Given the description of an element on the screen output the (x, y) to click on. 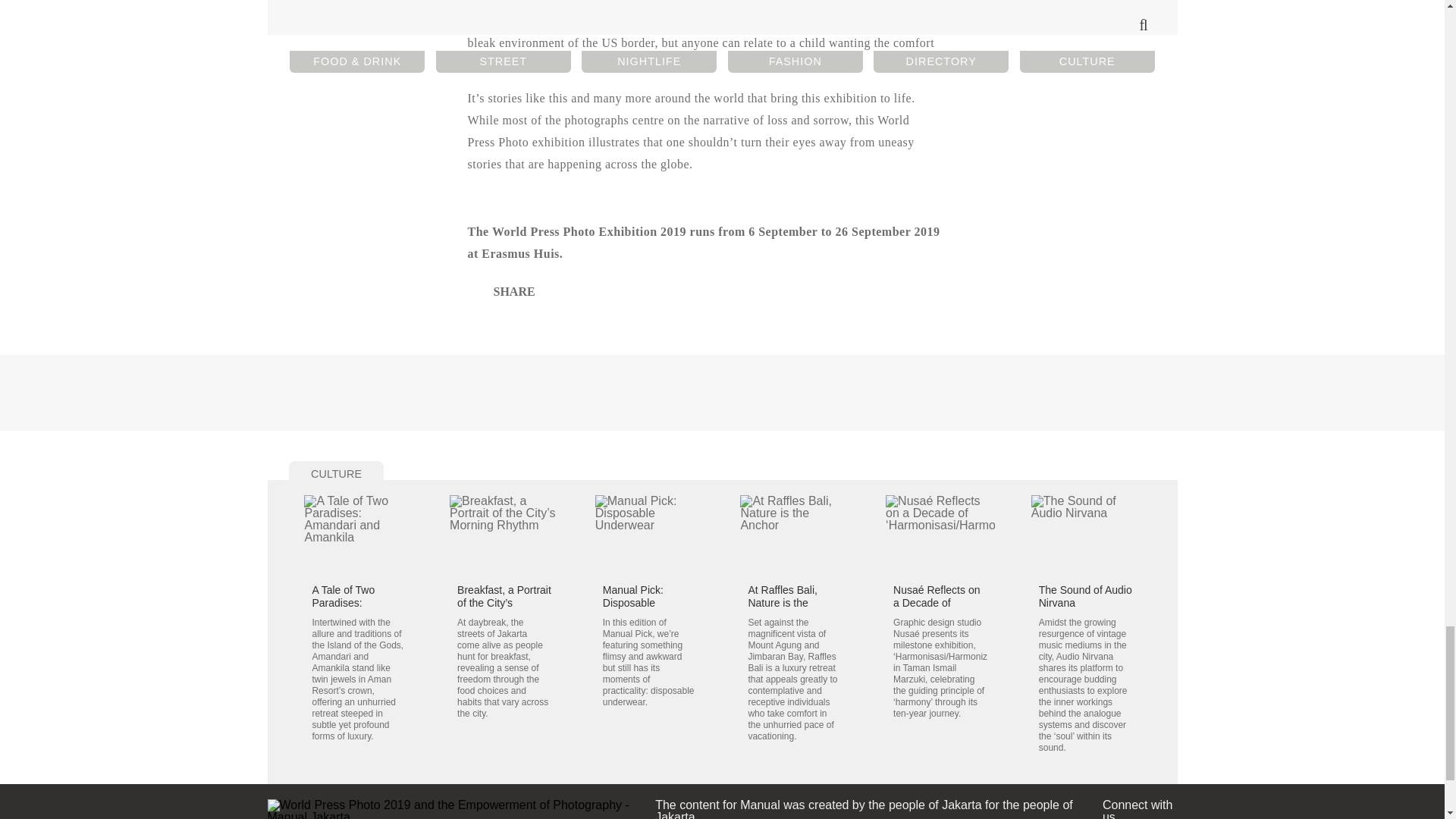
Read At Raffles Bali, Nature is the Anchor (793, 535)
A Tale of Two Paradises: Amandari and Amankila (344, 608)
Share on Facebook (504, 291)
Read Manual Pick: Disposable Underwear (649, 535)
Manual Pick: Disposable Underwear (632, 602)
Read At Raffles Bali, Nature is the Anchor (782, 602)
Read A Tale of Two Paradises: Amandari and Amankila (358, 535)
SHARE (504, 291)
The Sound of Audio Nirvana (1085, 596)
Read Manual Pick: Disposable Underwear (632, 602)
At Raffles Bali, Nature is the Anchor (782, 602)
Read A Tale of Two Paradises: Amandari and Amankila (344, 608)
